Given the description of an element on the screen output the (x, y) to click on. 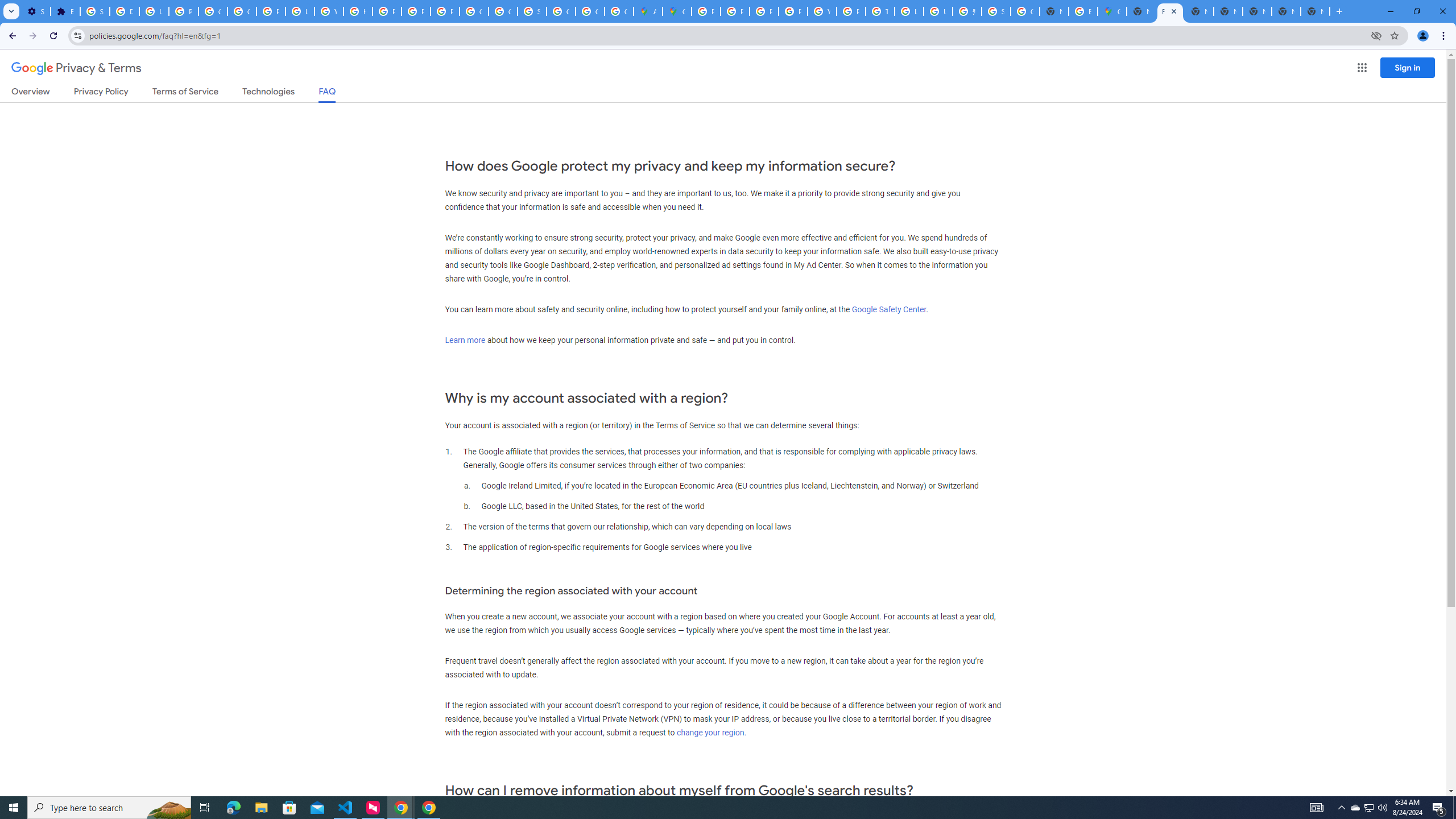
Sign in - Google Accounts (531, 11)
Google Safety Center (888, 309)
Extensions (65, 11)
Tips & tricks for Chrome - Google Chrome Help (879, 11)
change your region. (710, 732)
Sign in - Google Accounts (95, 11)
Policy Accountability and Transparency - Transparency Center (705, 11)
New Tab (1140, 11)
Delete photos & videos - Computer - Google Photos Help (124, 11)
